Given the description of an element on the screen output the (x, y) to click on. 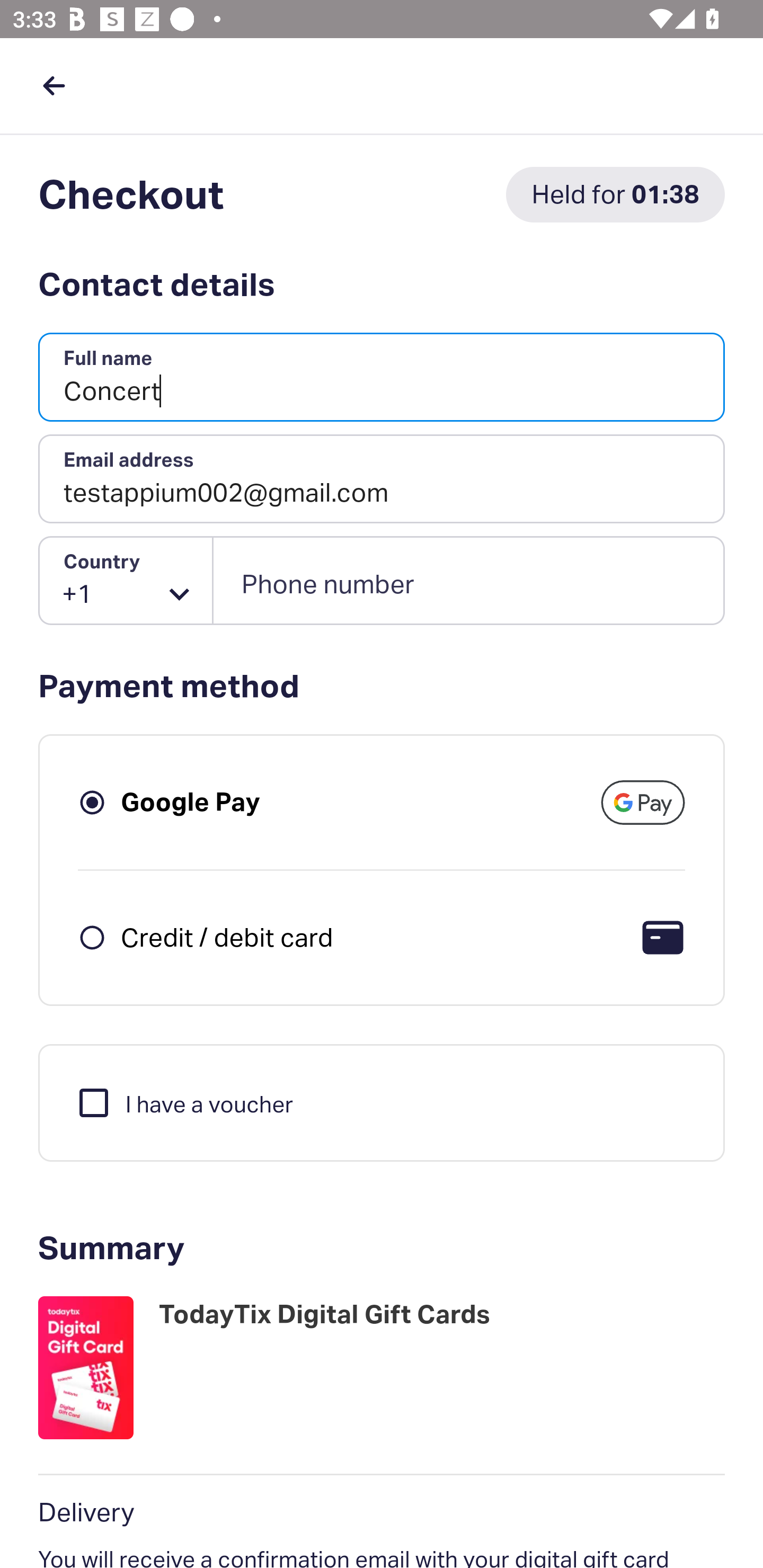
back button (53, 85)
Concert (381, 377)
testappium002@gmail.com (381, 478)
  +1 (126, 580)
Google Pay (190, 802)
Credit / debit card (227, 936)
I have a voucher (183, 1101)
